Given the description of an element on the screen output the (x, y) to click on. 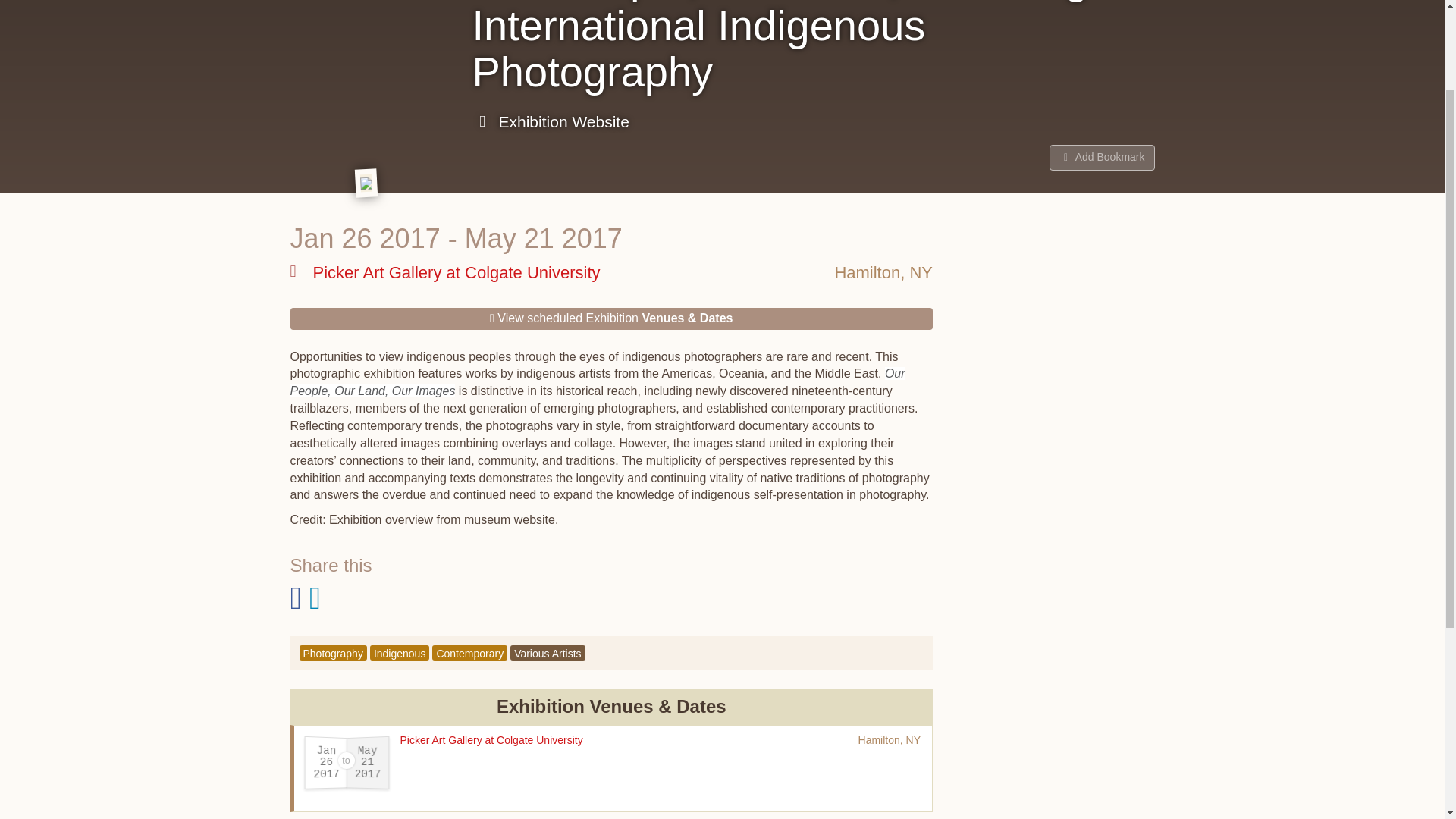
Add Bookmark (1101, 157)
Picker Art Gallery at Colgate University (491, 739)
Exhibition Website (549, 121)
Picker Art Gallery at Colgate University (444, 272)
